Given the description of an element on the screen output the (x, y) to click on. 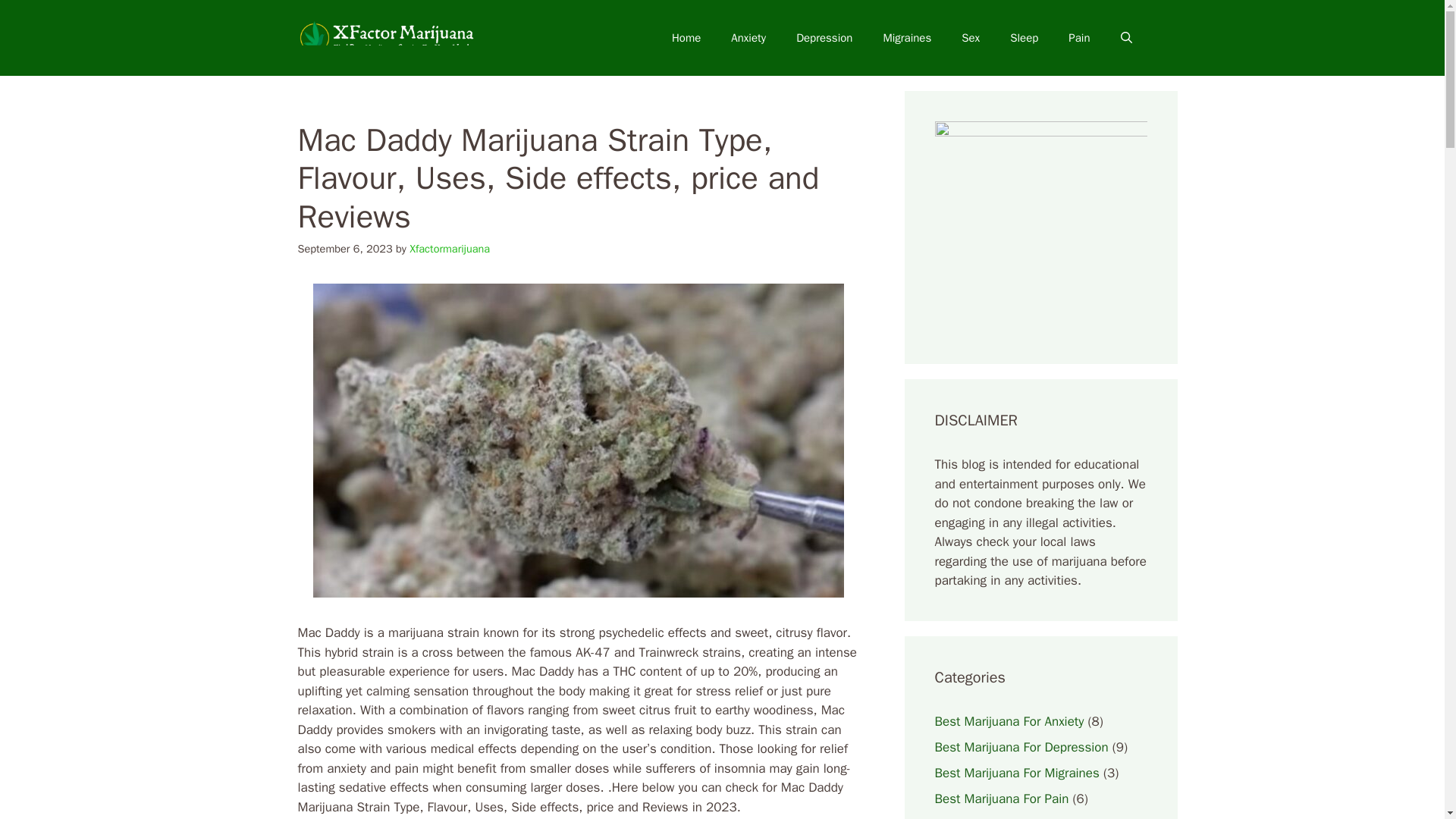
Sleep (1023, 37)
Pain (1078, 37)
Best Marijuana For Migraines (1016, 772)
Best Marijuana For Pain (1001, 797)
Best Marijuana For Anxiety (1008, 720)
Home (686, 37)
Depression (823, 37)
Migraines (906, 37)
View all posts by Xfactormarijuana (449, 248)
Anxiety (748, 37)
